Given the description of an element on the screen output the (x, y) to click on. 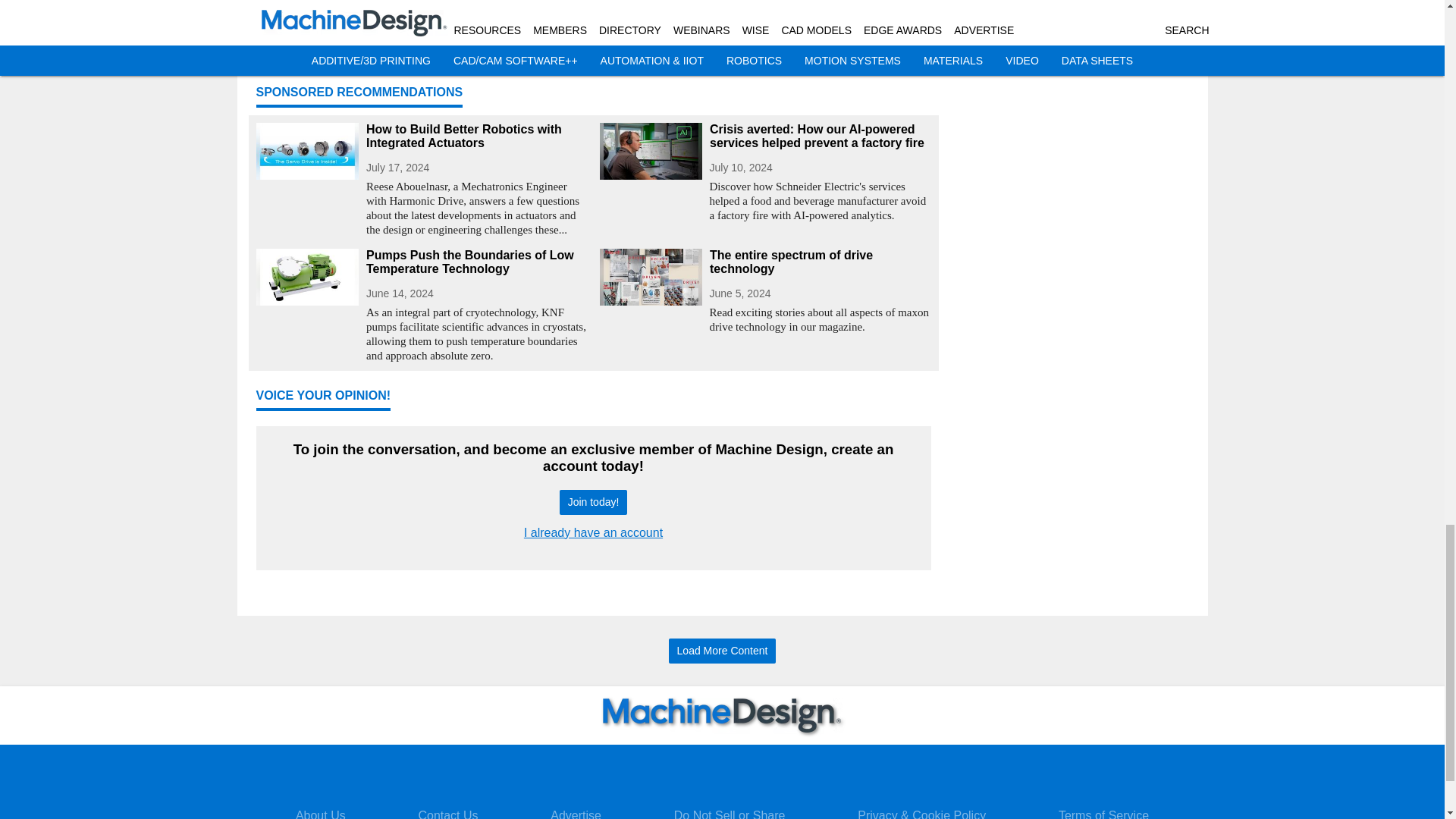
The entire spectrum of drive technology (820, 262)
Join today! (593, 502)
Power and efficiency drive motor selection (764, 39)
Pumps Push the Boundaries of Low Temperature Technology (476, 262)
How to Build Better Robotics with Integrated Actuators (476, 135)
